Given the description of an element on the screen output the (x, y) to click on. 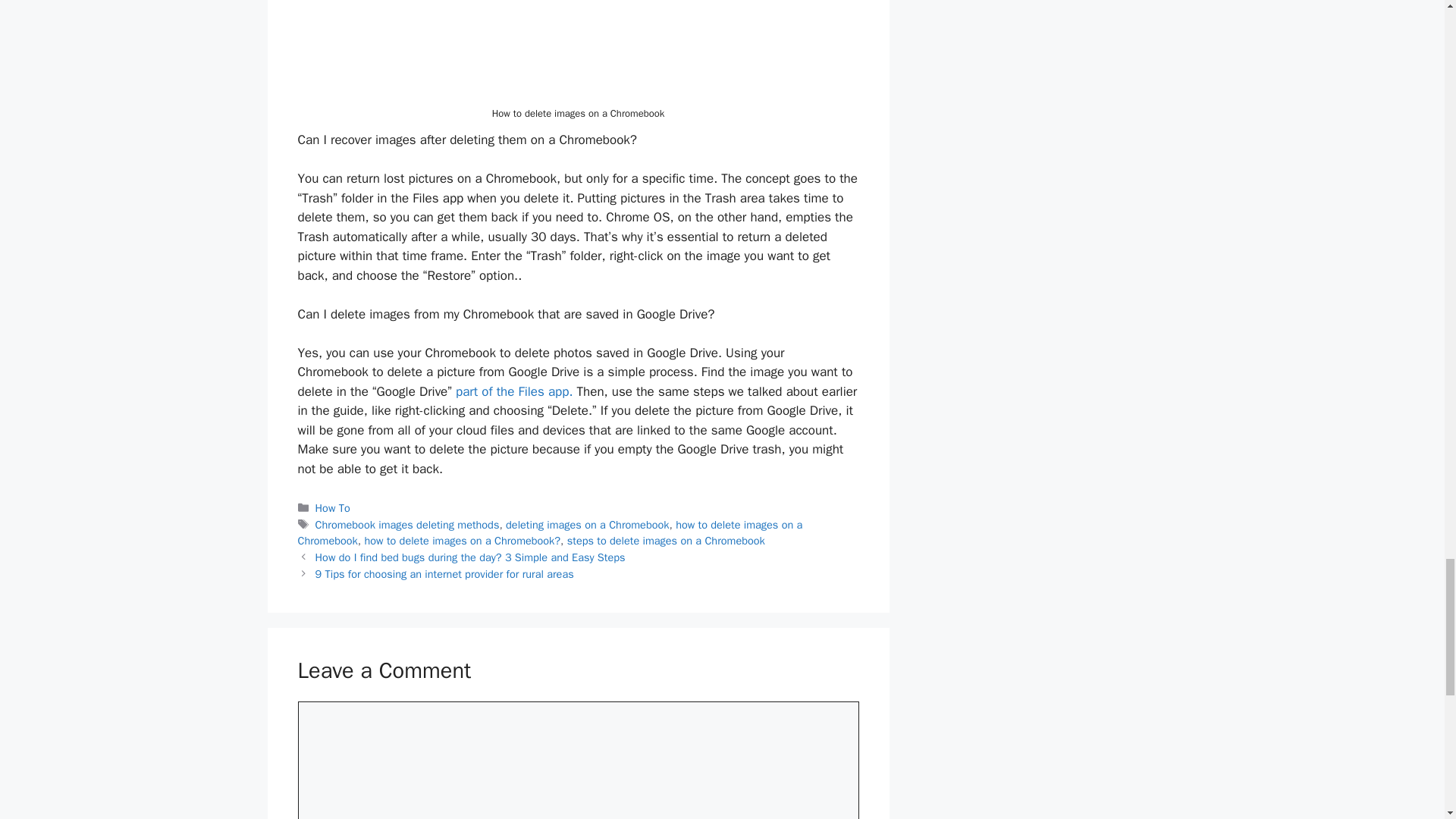
9 Tips for choosing an internet provider for rural areas (444, 573)
how to delete images on a Chromebook? (462, 540)
how to delete images on a Chromebook (549, 532)
Chromebook images deleting methods (407, 524)
steps to delete images on a Chromebook (666, 540)
deleting images on a Chromebook (586, 524)
How To (332, 508)
part of the Files app. (513, 391)
